Given the description of an element on the screen output the (x, y) to click on. 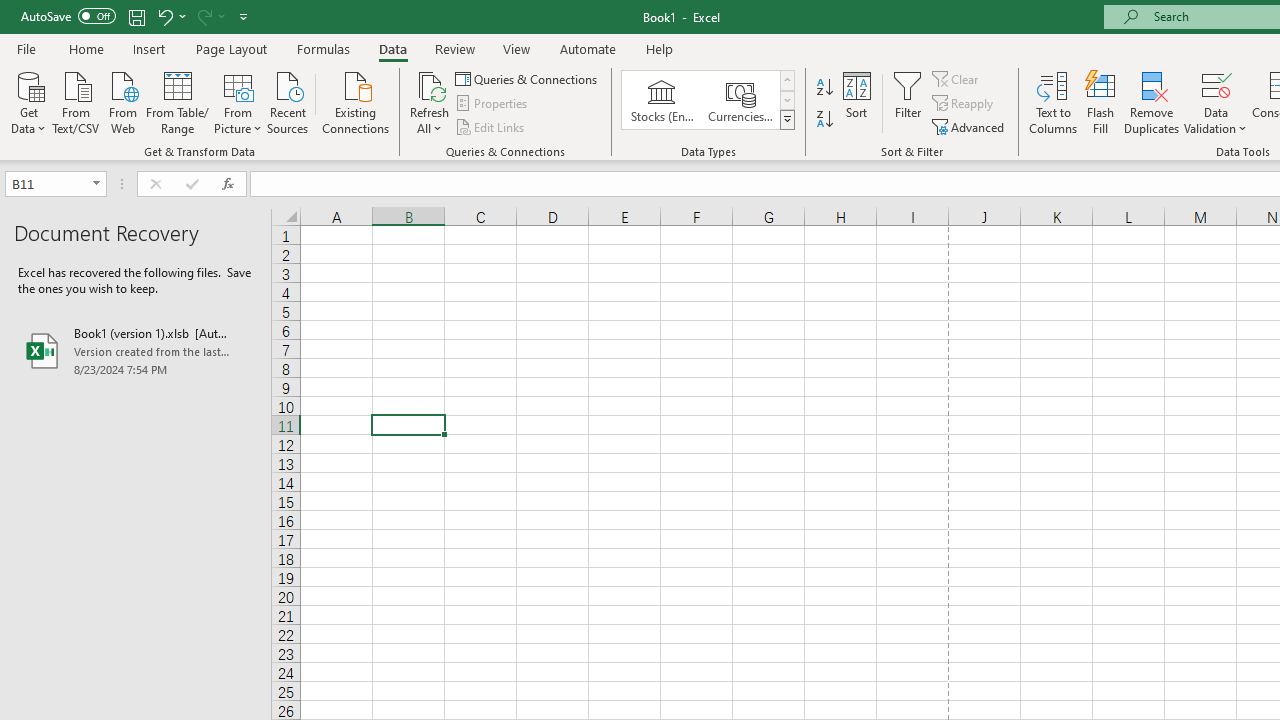
Reapply (964, 103)
More Options (1215, 121)
Remove Duplicates (1151, 102)
Formulas (323, 48)
From Text/CSV (75, 101)
Stocks (English) (662, 100)
Filter (908, 102)
Refresh All (429, 102)
Data Types (786, 120)
Automate (588, 48)
Edit Links (491, 126)
Text to Columns... (1053, 102)
Home (86, 48)
Insert (149, 48)
